Given the description of an element on the screen output the (x, y) to click on. 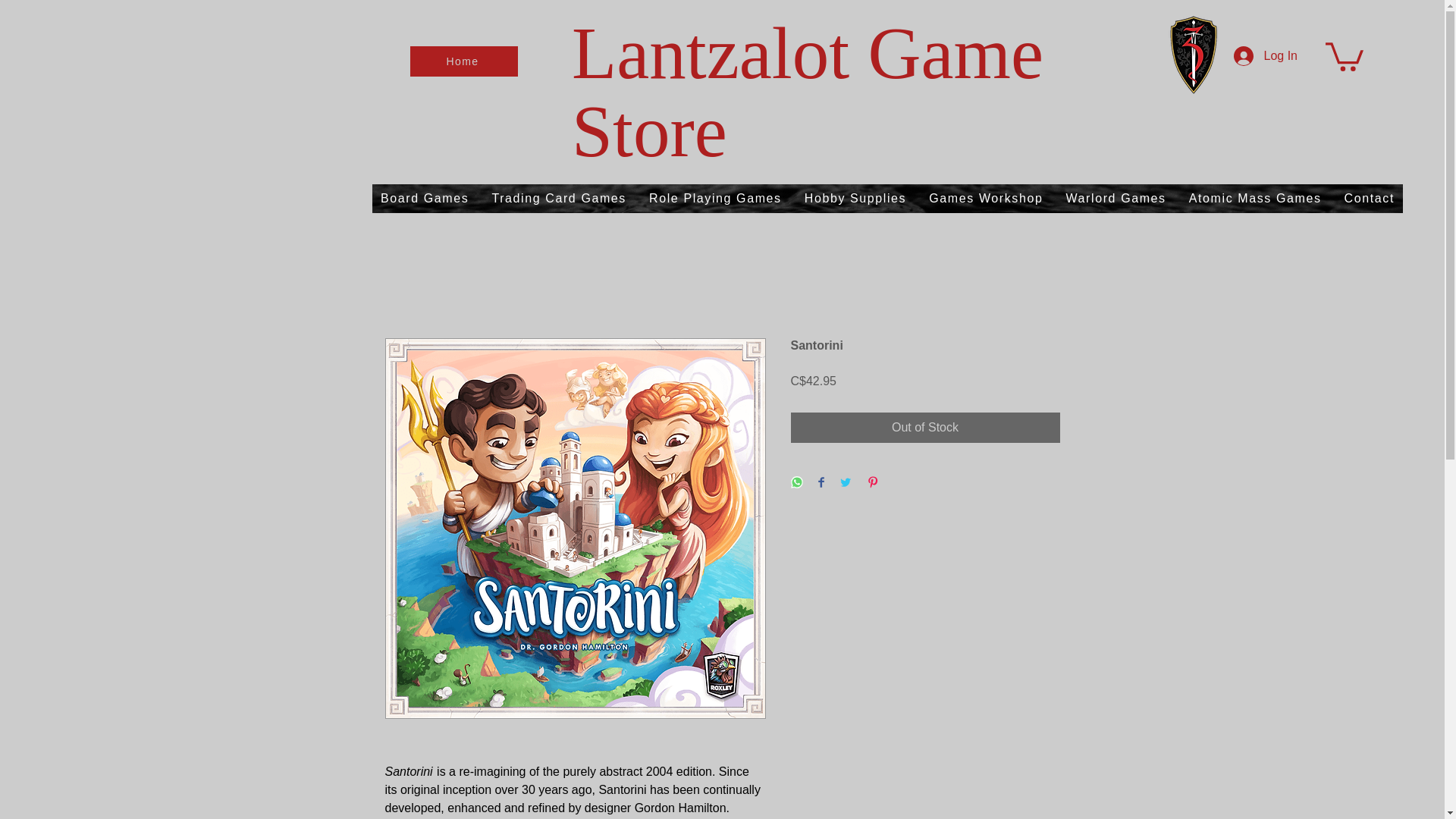
Board Games (424, 198)
Trading Card Games (558, 198)
Hobby Supplies (855, 198)
Log In (1265, 55)
Role Playing Games (715, 198)
Home (464, 60)
